Given the description of an element on the screen output the (x, y) to click on. 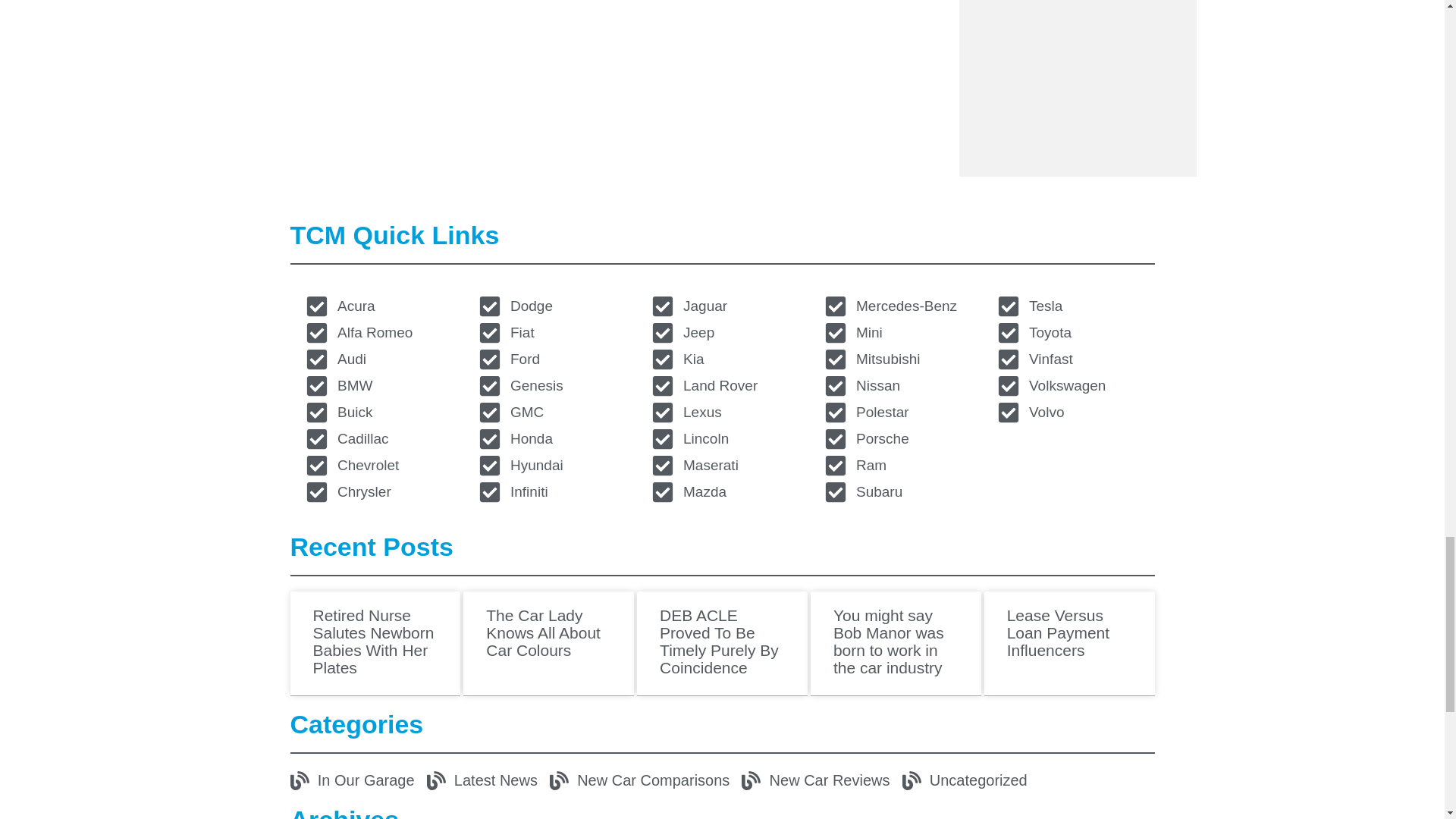
Jaguar (721, 305)
Infiniti (548, 491)
Fiat (548, 332)
GMC (548, 412)
Chevrolet (375, 465)
Audi (375, 359)
Maserati (721, 465)
Hyundai (548, 465)
Chrysler (375, 491)
Lincoln (721, 438)
Acura (375, 305)
Ford (548, 359)
BMW (375, 385)
Honda (548, 438)
Kia (721, 359)
